Given the description of an element on the screen output the (x, y) to click on. 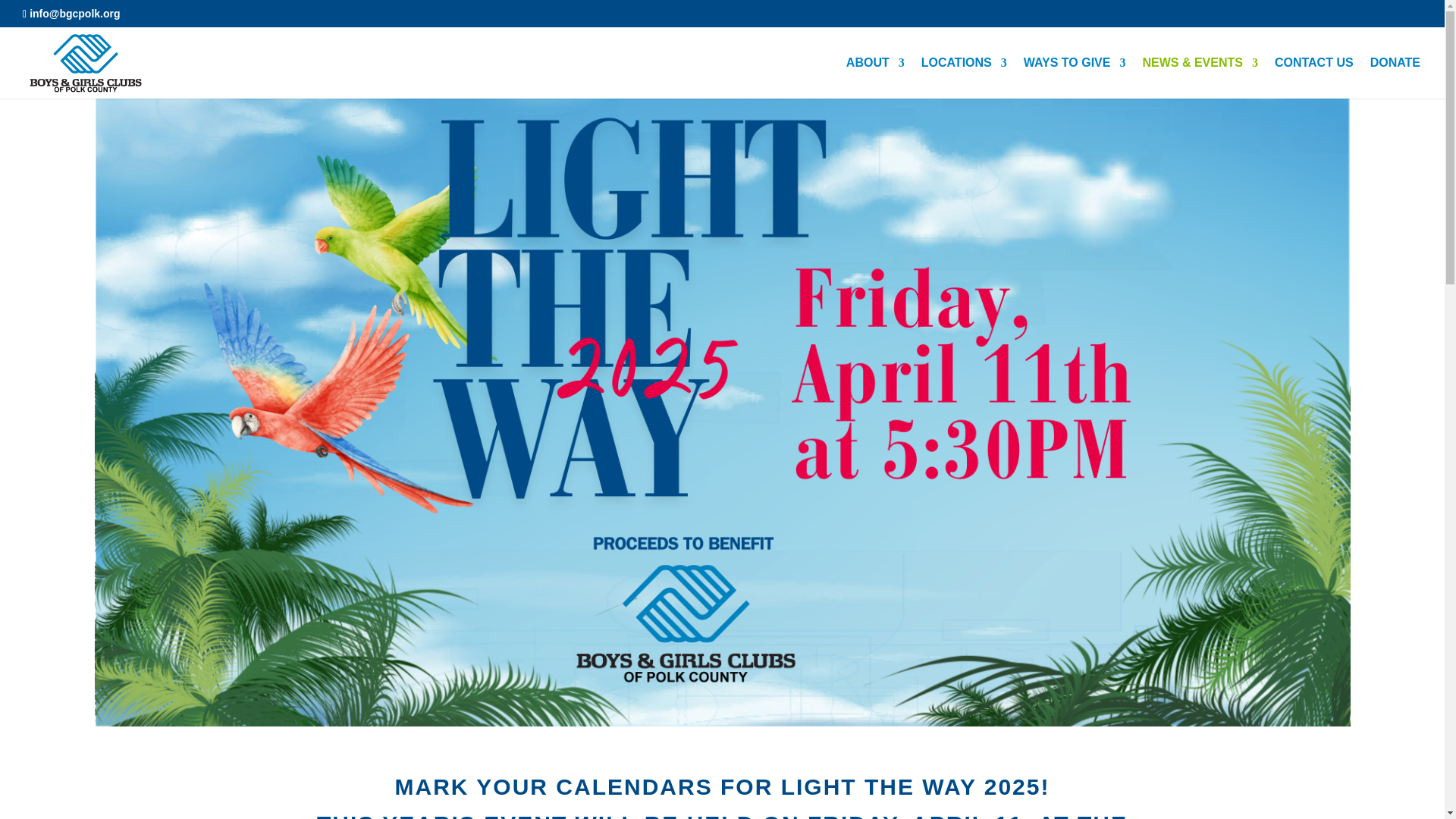
LOCATIONS (964, 77)
DONATE (1395, 77)
ABOUT (874, 77)
CONTACT US (1314, 77)
WAYS TO GIVE (1074, 77)
